Given the description of an element on the screen output the (x, y) to click on. 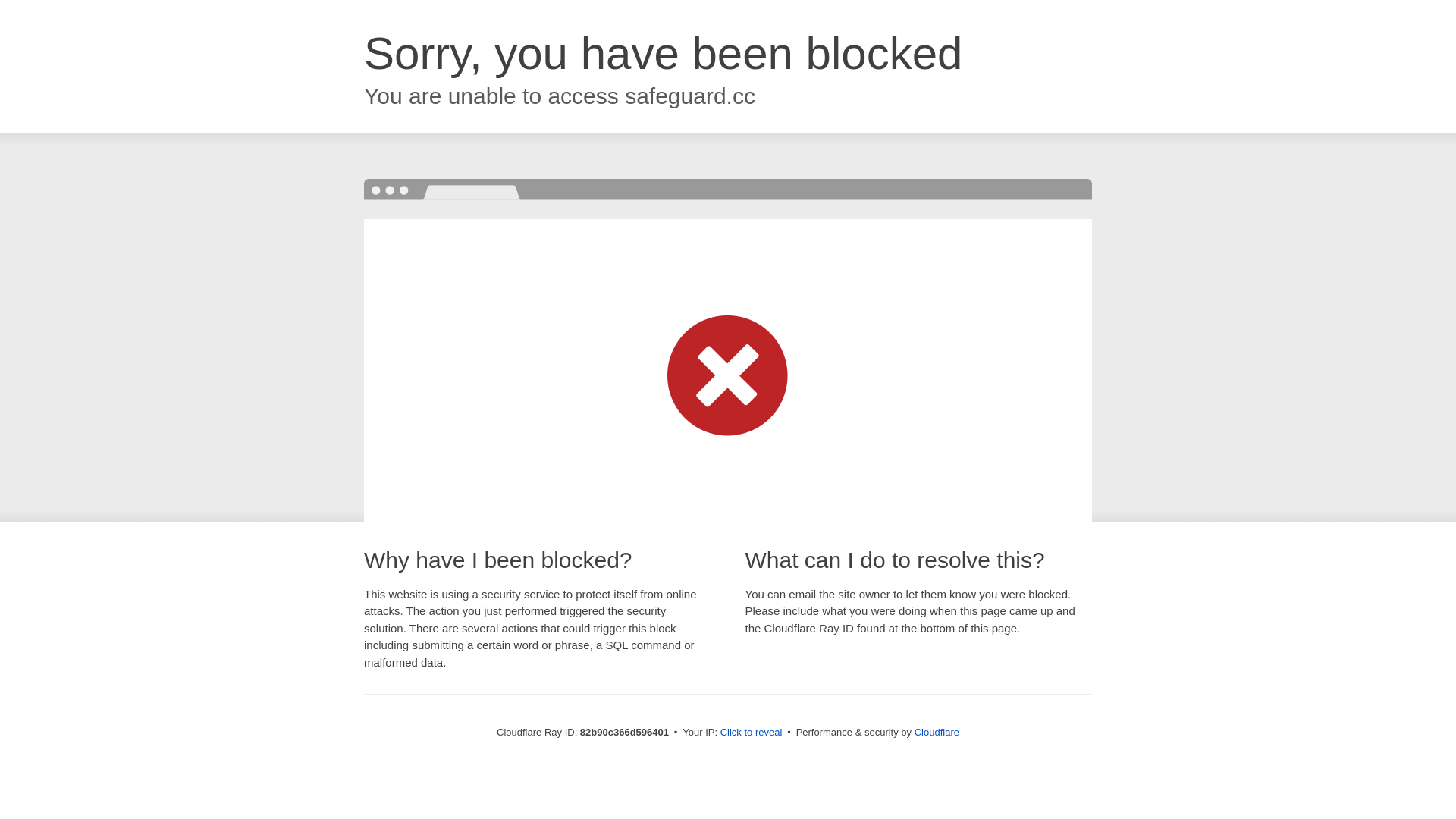
Cloudflare Element type: text (936, 731)
Click to reveal Element type: text (751, 732)
